Given the description of an element on the screen output the (x, y) to click on. 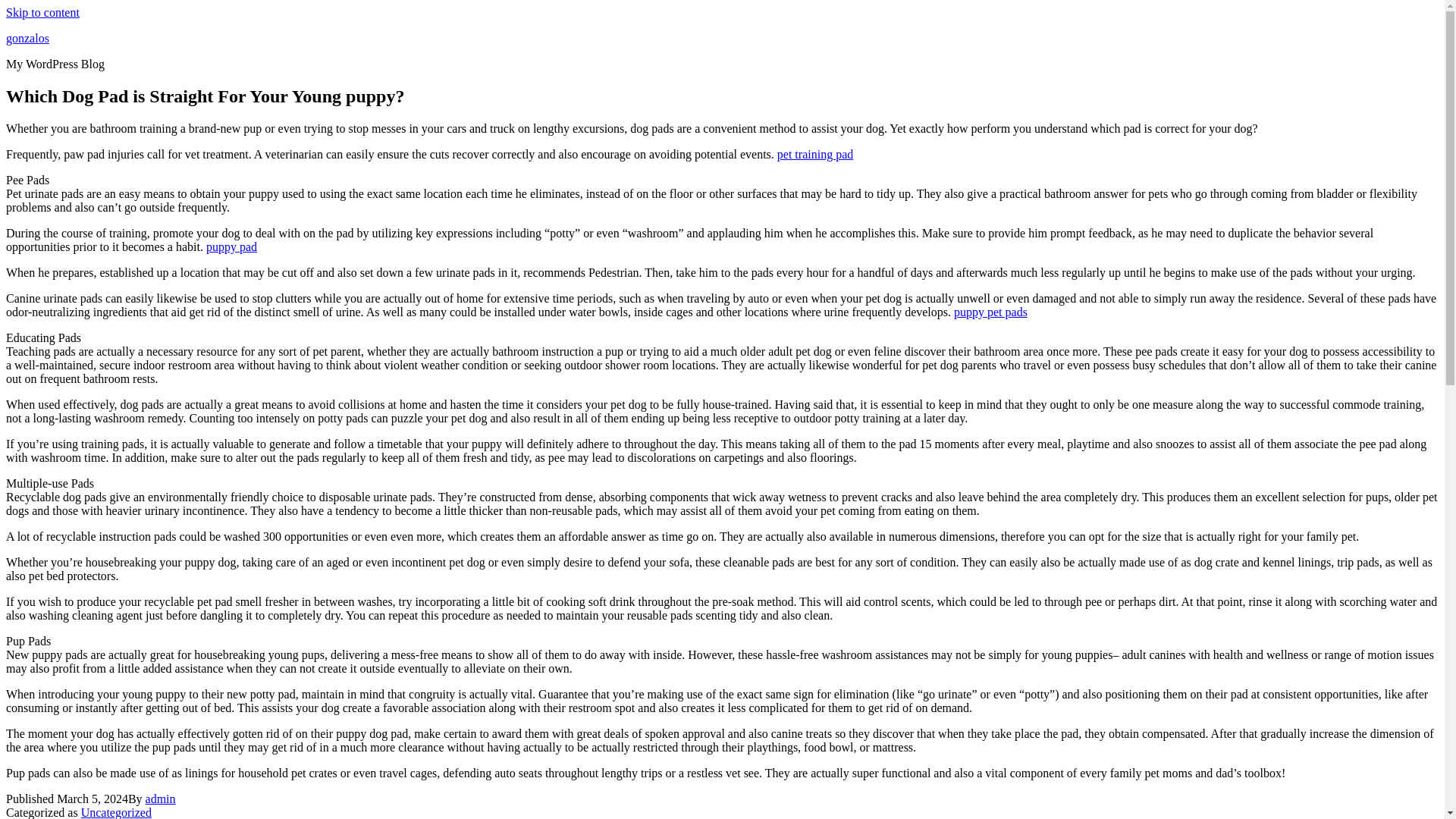
admin (160, 798)
Uncategorized (116, 812)
puppy pad (231, 246)
gonzalos (27, 38)
pet training pad (815, 154)
puppy pet pads (990, 311)
Skip to content (42, 11)
